Given the description of an element on the screen output the (x, y) to click on. 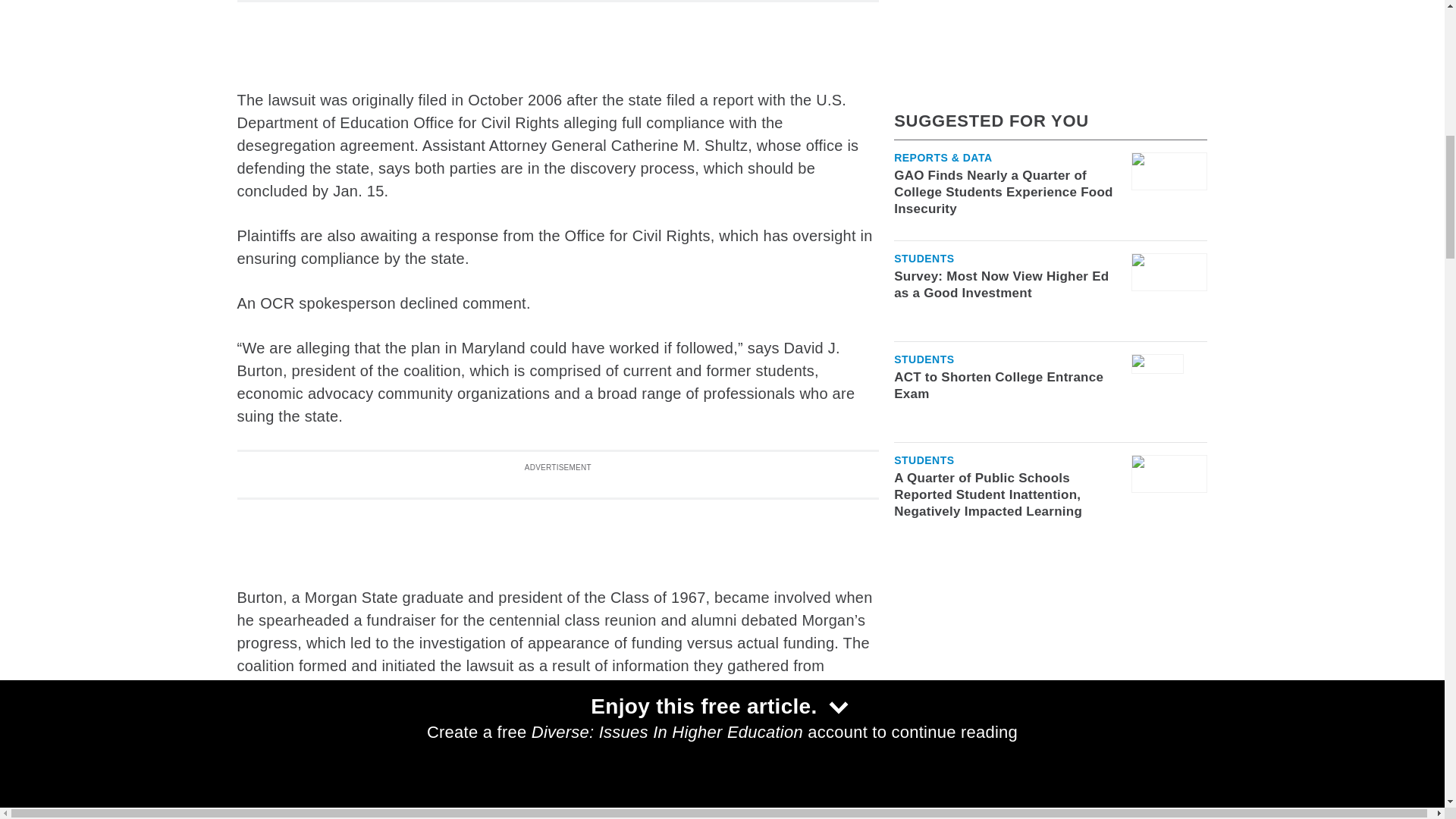
Students (923, 295)
Students (923, 93)
Students (923, 194)
